Given the description of an element on the screen output the (x, y) to click on. 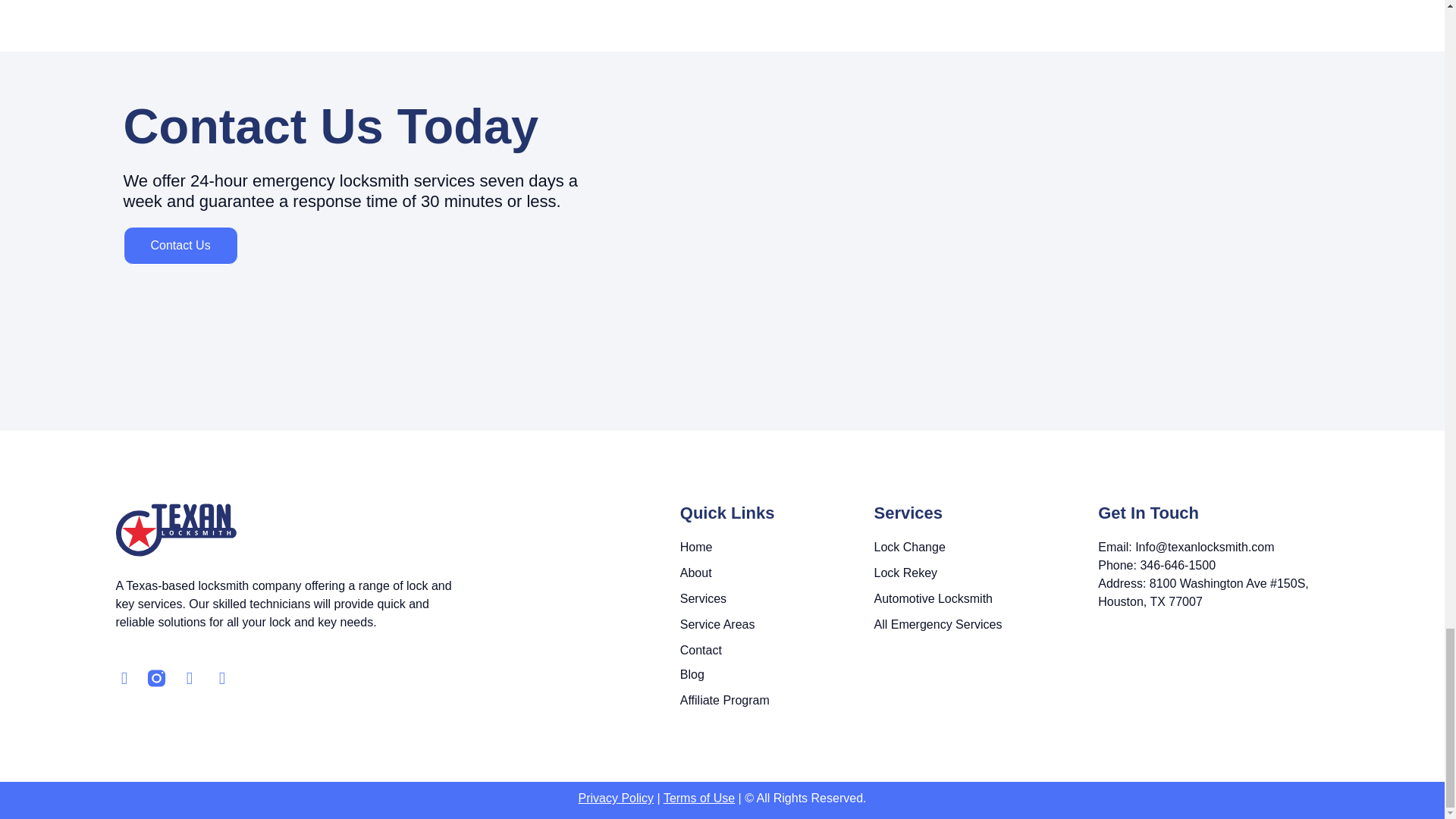
Services (777, 598)
About (777, 573)
Contact (777, 650)
Home (777, 547)
Blog (777, 674)
Affiliate Program (777, 700)
Contact Us (179, 245)
Service Areas (777, 624)
